Given the description of an element on the screen output the (x, y) to click on. 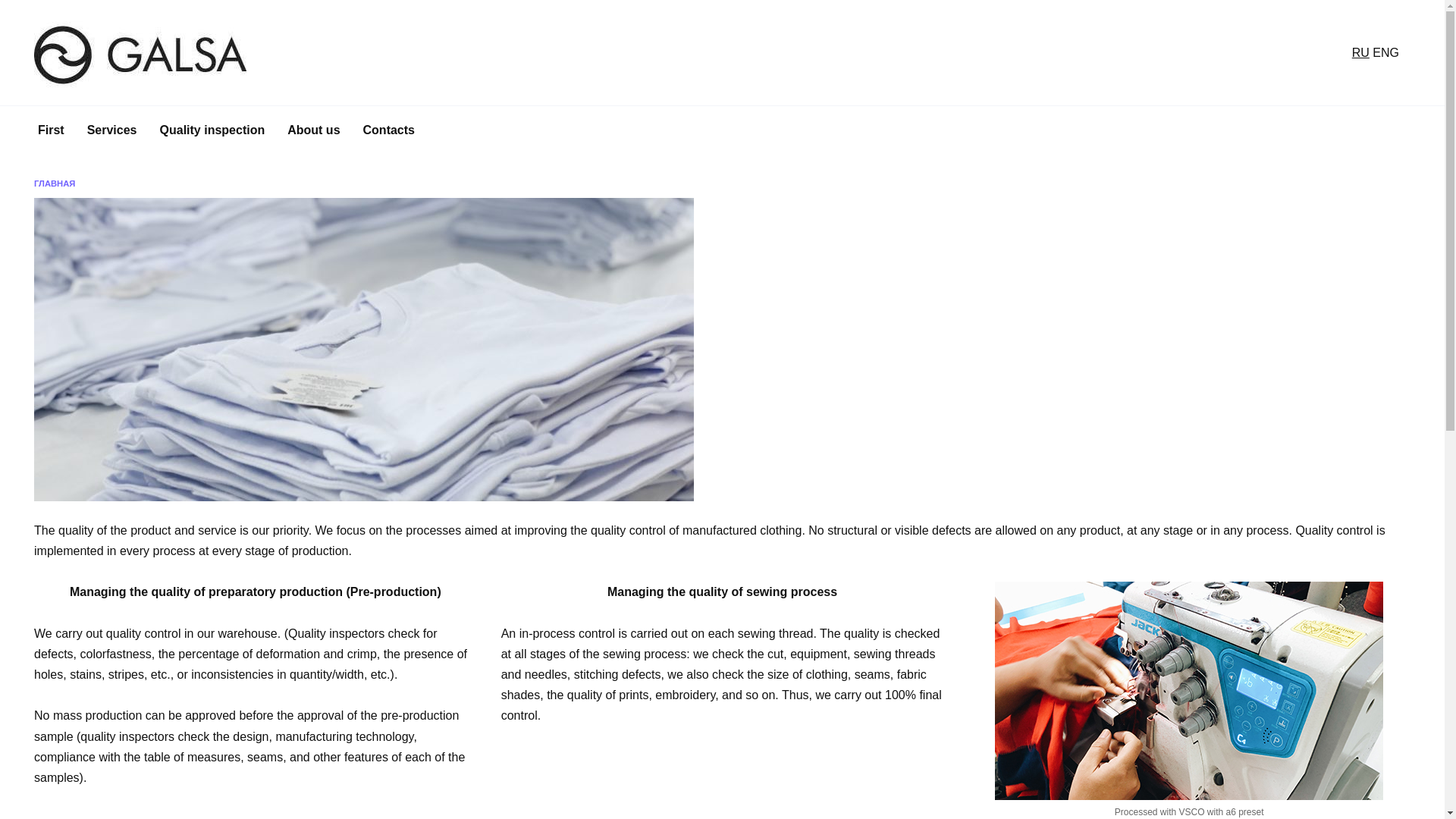
Services (111, 130)
About us (313, 130)
Contacts (389, 130)
First (50, 130)
RU (1361, 51)
